Given the description of an element on the screen output the (x, y) to click on. 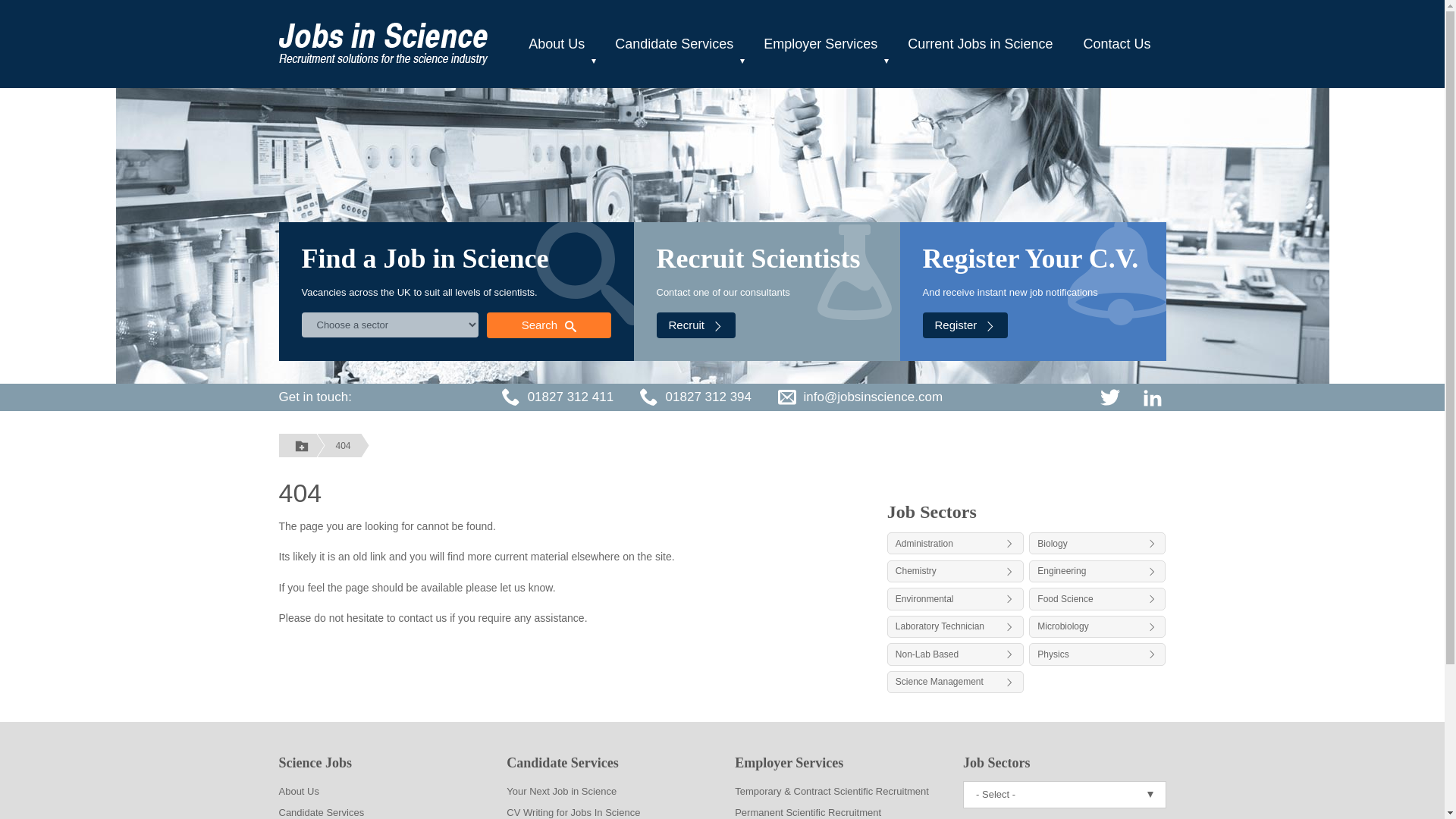
Show Breadcrumbs (301, 445)
Candidate Services (673, 43)
Administration (954, 543)
Biology (1097, 543)
Recruit (696, 325)
Environmental (954, 598)
Current Jobs in Science (979, 43)
Search (548, 325)
Contact Us (1116, 43)
About Us (556, 43)
